Given the description of an element on the screen output the (x, y) to click on. 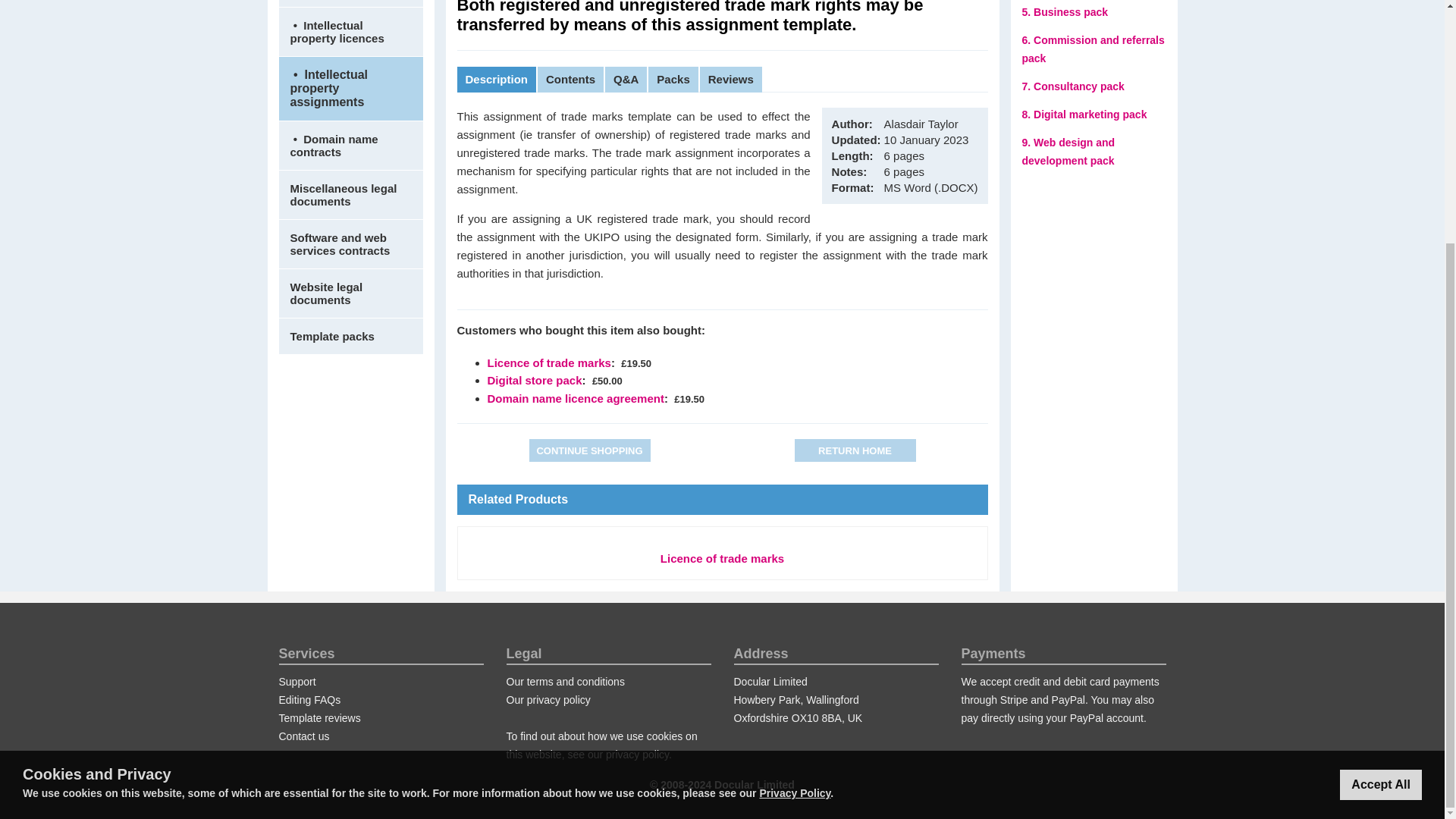
Packs (673, 79)
Editing FAQs (309, 699)
Licence of trade marks (722, 558)
Website legal documents (351, 292)
Licence of trade marks (548, 362)
CONTINUE SHOPPING (589, 449)
Digital store pack (533, 379)
9. Web design and development pack (1068, 151)
Contents (570, 79)
Template reviews (320, 717)
